Given the description of an element on the screen output the (x, y) to click on. 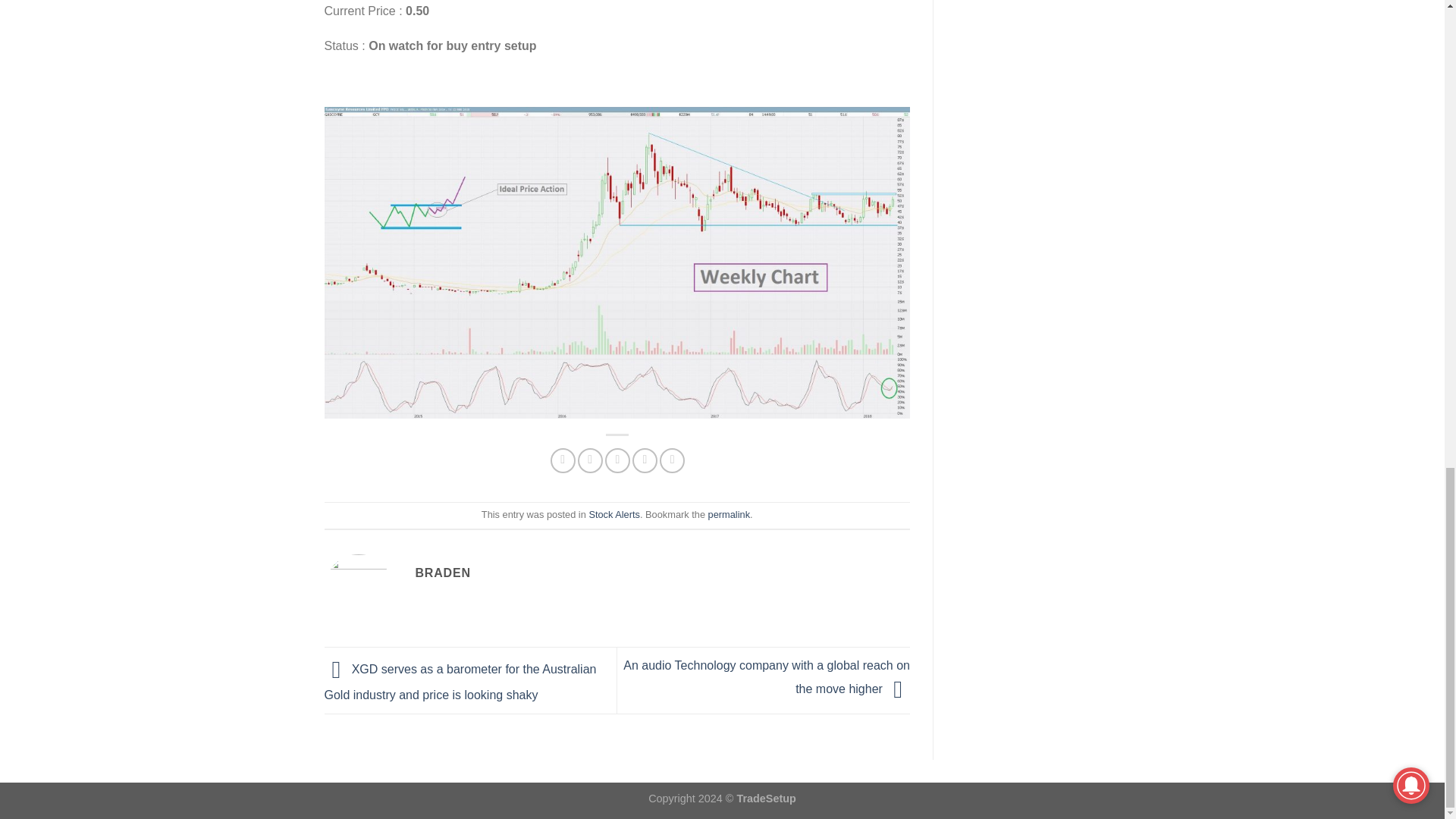
permalink (728, 514)
Stock Alerts (614, 514)
